Given the description of an element on the screen output the (x, y) to click on. 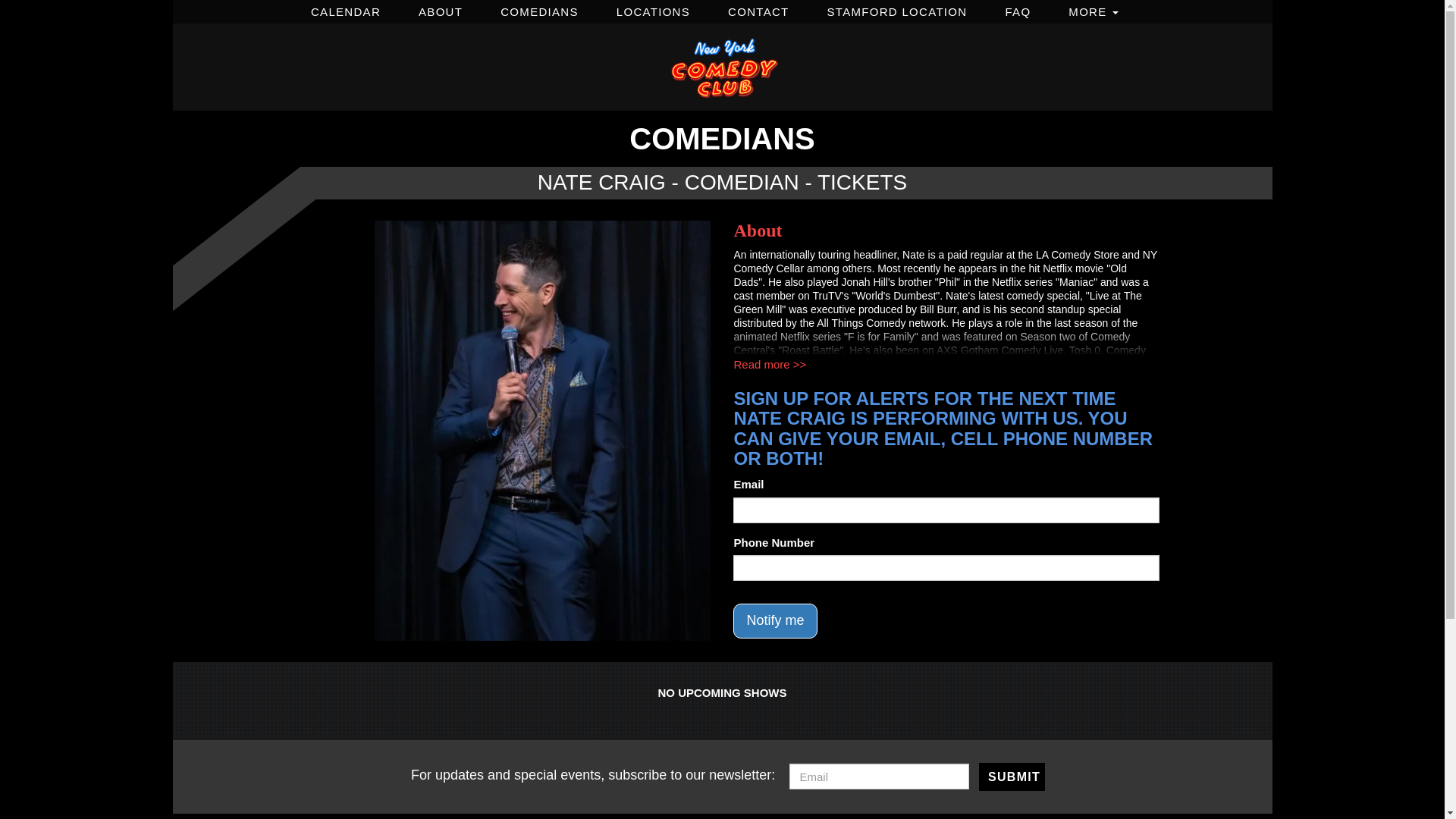
MORE (1093, 9)
CALENDAR (345, 9)
STAMFORD LOCATION (896, 9)
Notify me (774, 620)
LOCATIONS (653, 9)
COMEDIANS (539, 9)
CONTACT (757, 9)
ABOUT (440, 9)
FAQ (1017, 9)
